Given the description of an element on the screen output the (x, y) to click on. 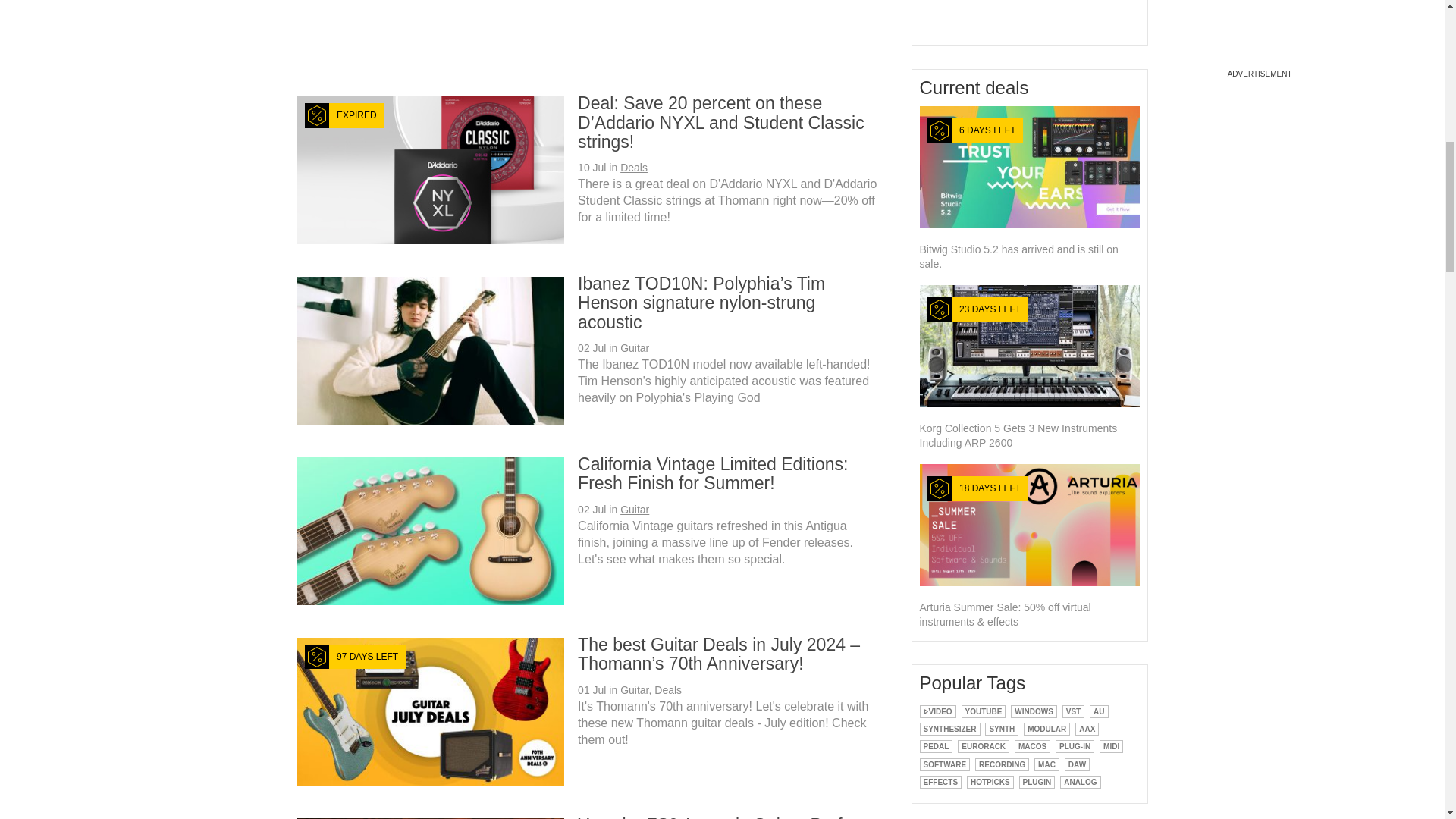
View all Posts in AU (1098, 711)
View all Posts in MacOS (1031, 745)
View all Posts in Synthesizer (948, 728)
View all Posts in plug-in (1074, 745)
View all Posts in Pedal (935, 745)
View all Posts in VST (1073, 711)
View all Posts in AAX (1087, 728)
View all Posts in MIDI (1110, 745)
View all Posts in Modular (1046, 728)
View all Posts in Video (936, 711)
View all Posts in Software (943, 764)
View all Posts in YouTube (983, 711)
View all Posts in Windows (1033, 711)
View all Posts in Synth (1001, 728)
View all Posts in Eurorack (983, 745)
